Given the description of an element on the screen output the (x, y) to click on. 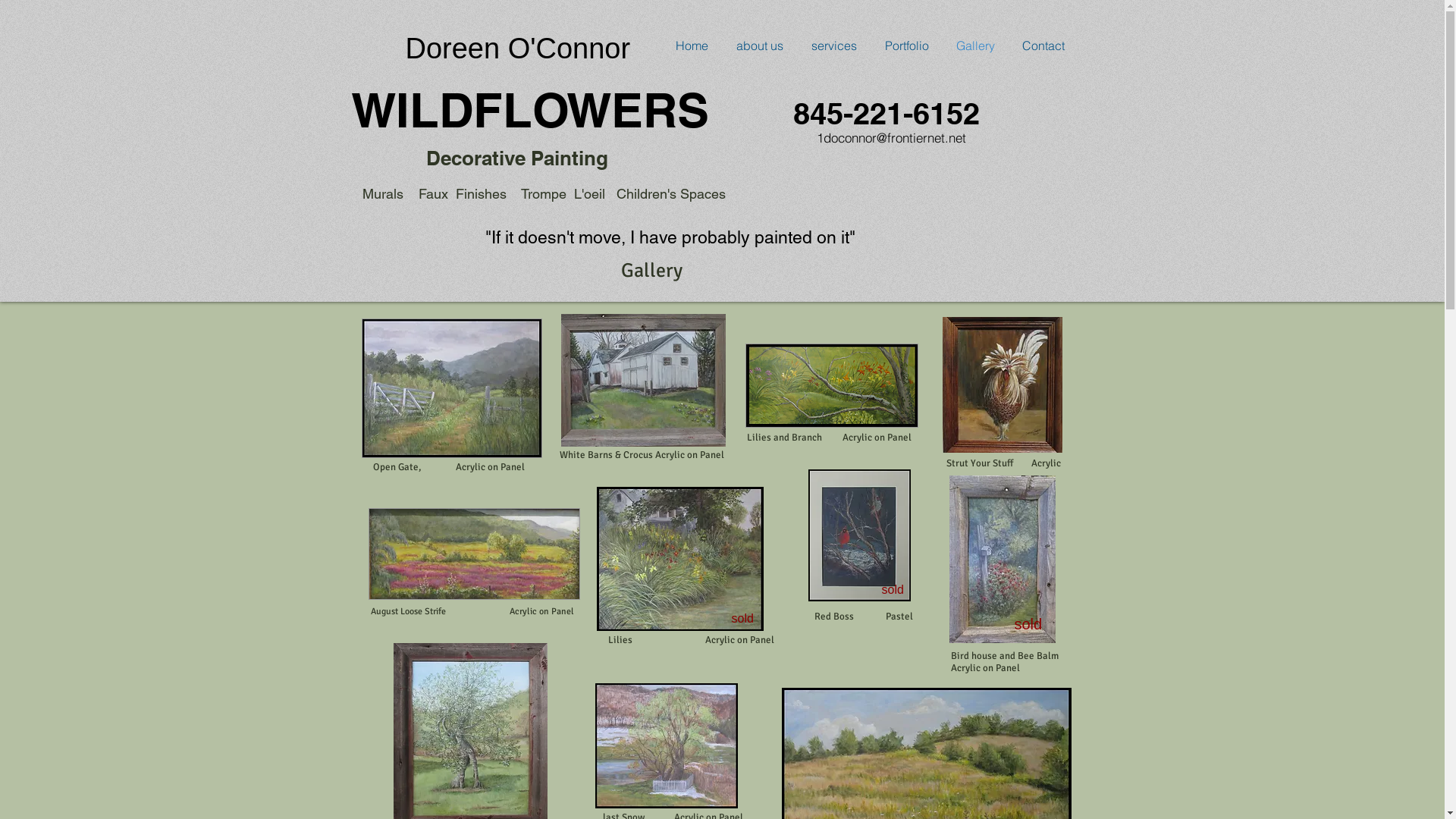
Portfolio Element type: text (905, 45)
IMG_1645_edited.jpg Element type: hover (643, 379)
Gallery Element type: text (974, 45)
Home Element type: text (691, 45)
IMG_1613.JPG Element type: hover (1001, 384)
about us Element type: text (759, 45)
Lilies and BranchIMG_1026_edited.JPG Element type: hover (830, 385)
services Element type: text (834, 45)
Contact Element type: text (1043, 45)
IMG_1422_edited.jpg Element type: hover (450, 388)
1doconnor@frontiernet.net Element type: text (890, 137)
